Given the description of an element on the screen output the (x, y) to click on. 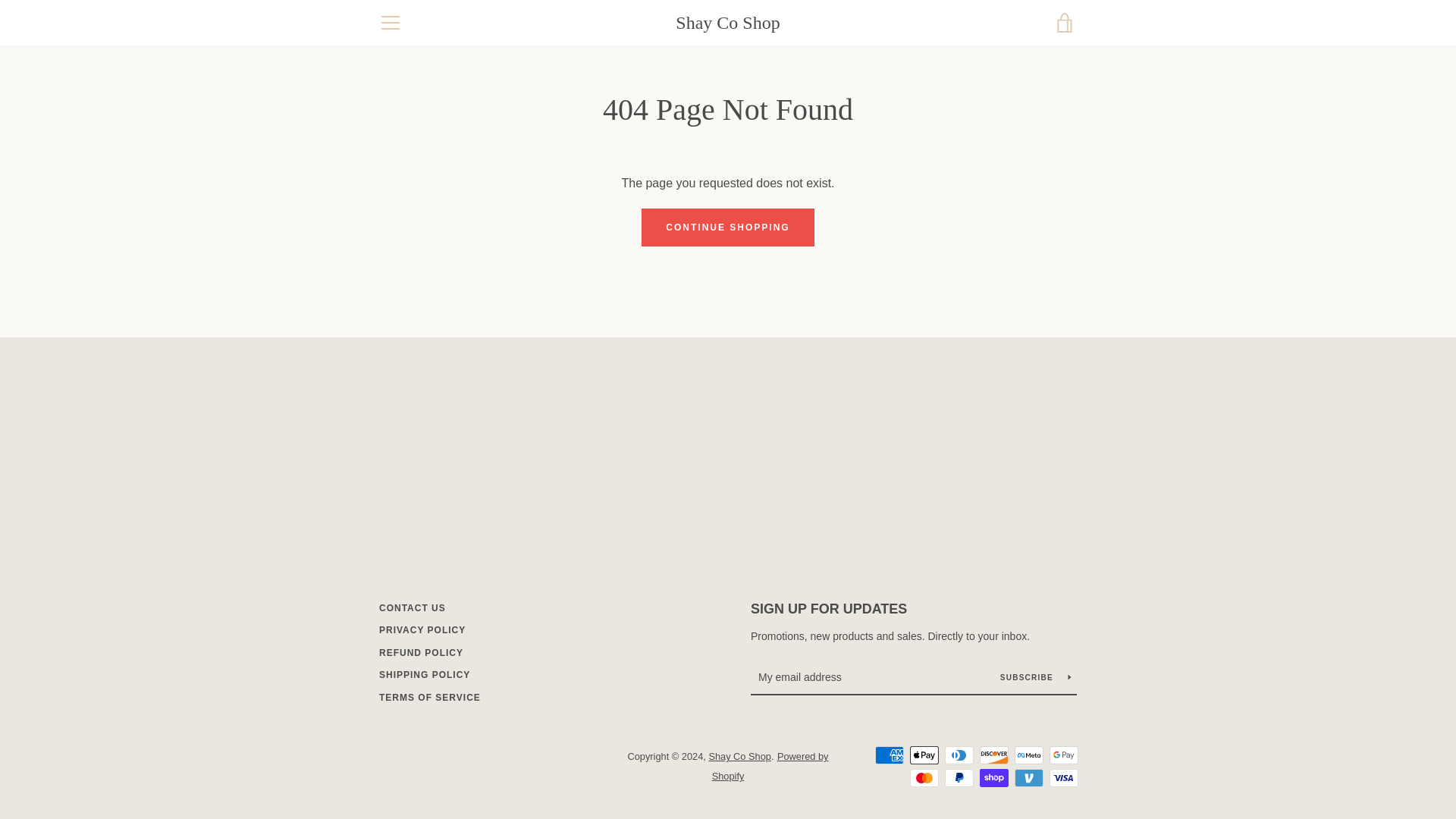
CONTINUE SHOPPING (727, 227)
MENU (390, 22)
VIEW CART (1065, 22)
Shay Co Shop (726, 23)
